Given the description of an element on the screen output the (x, y) to click on. 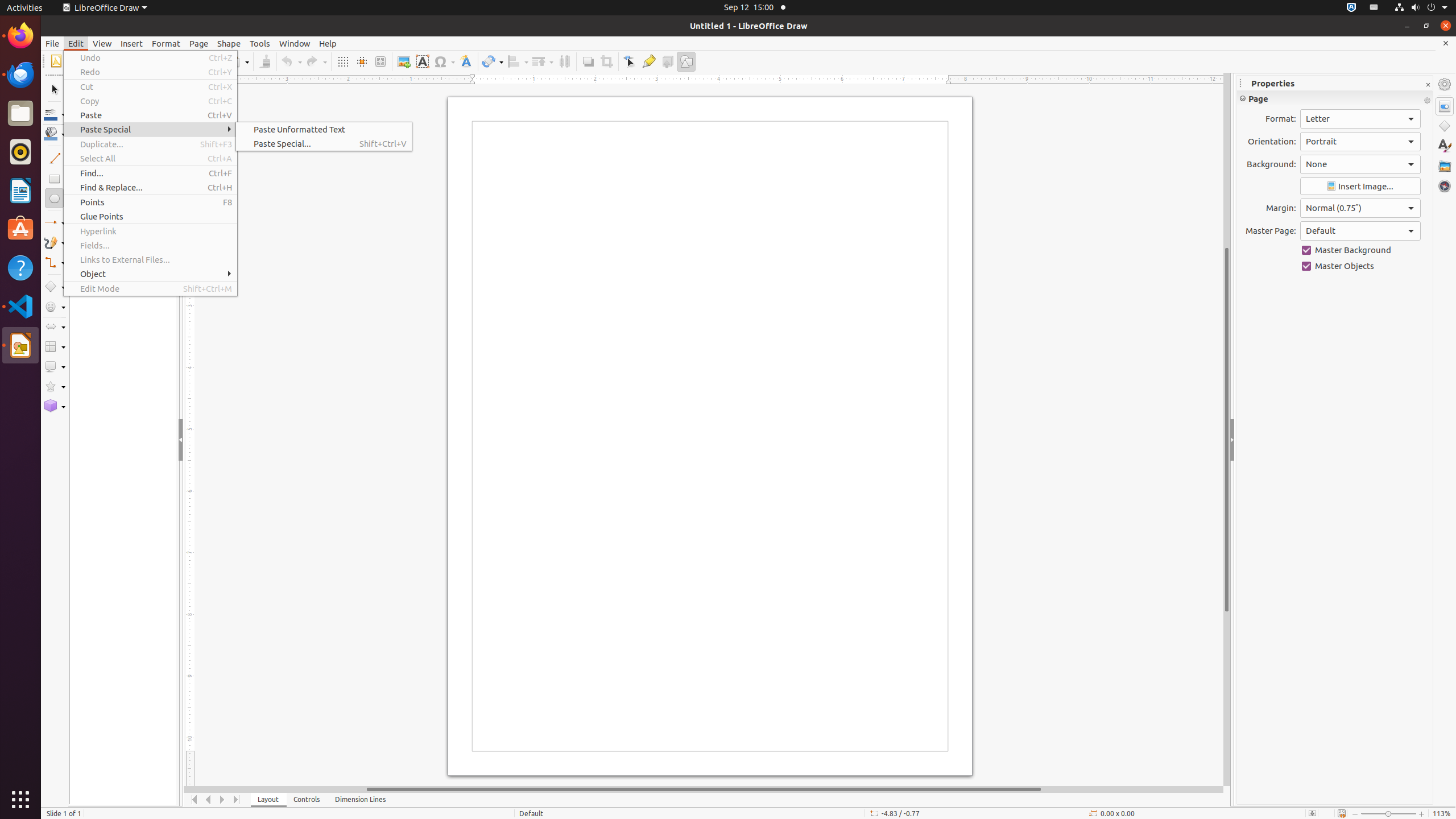
Show Applications Element type: toggle-button (20, 799)
Format: Element type: combo-box (1360, 118)
Margin: Element type: combo-box (1360, 207)
Master Background Element type: check-box (1360, 249)
Files Element type: push-button (20, 113)
